Given the description of an element on the screen output the (x, y) to click on. 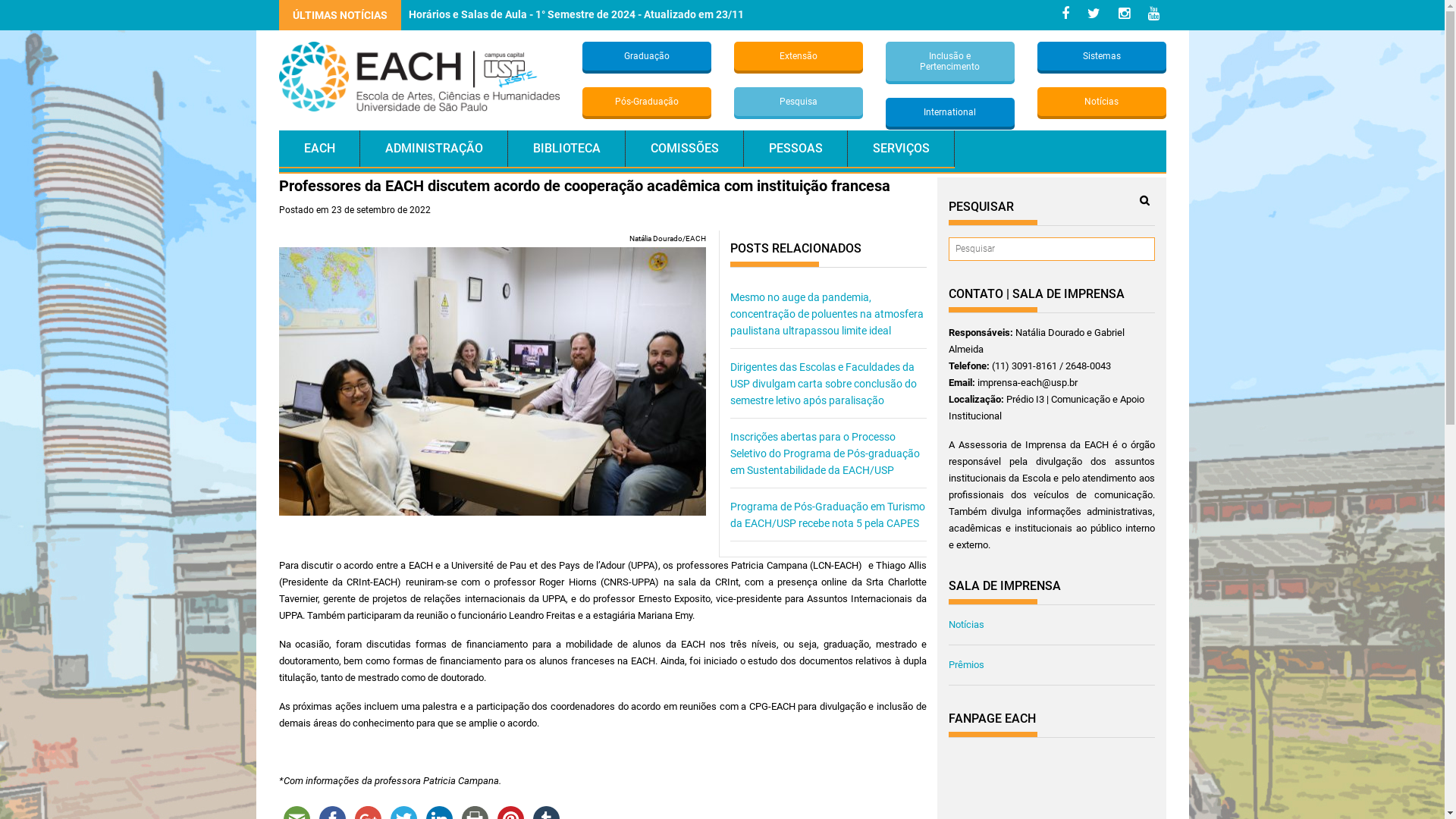
BIBLIOTECA Element type: text (566, 148)
Pesquisar Element type: text (1143, 200)
International Element type: text (949, 111)
PESSOAS Element type: text (795, 148)
Pesquisa Element type: text (798, 101)
EACH Element type: text (319, 148)
Sistemas Element type: text (1101, 55)
